Given the description of an element on the screen output the (x, y) to click on. 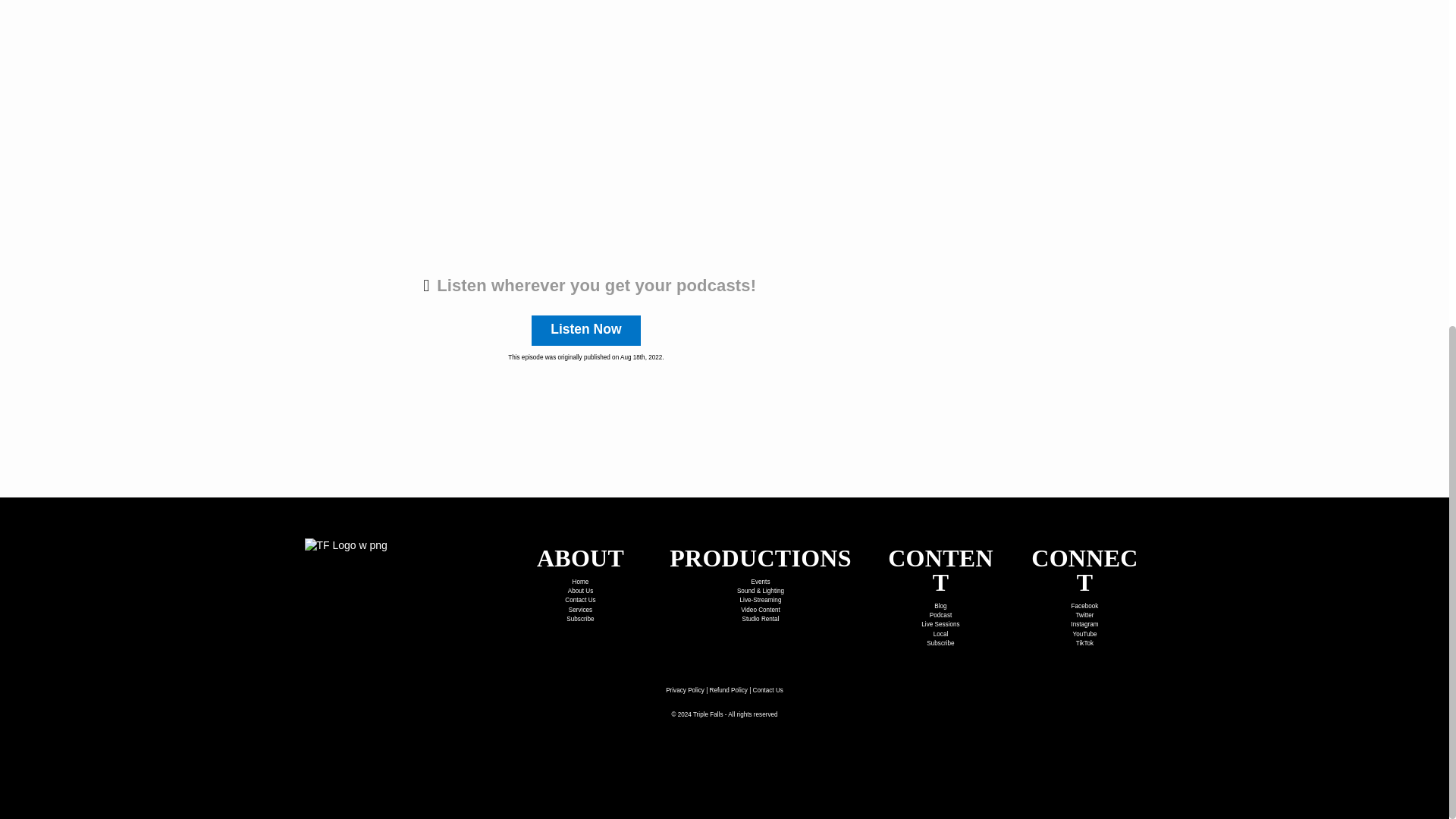
Live-Streaming (760, 600)
Contact Us (579, 600)
Studio Rental (759, 619)
Listen Now (585, 330)
Home (580, 582)
Video Content (760, 610)
Events (760, 582)
Subscribe (580, 619)
About Us (580, 591)
Services (580, 610)
